Given the description of an element on the screen output the (x, y) to click on. 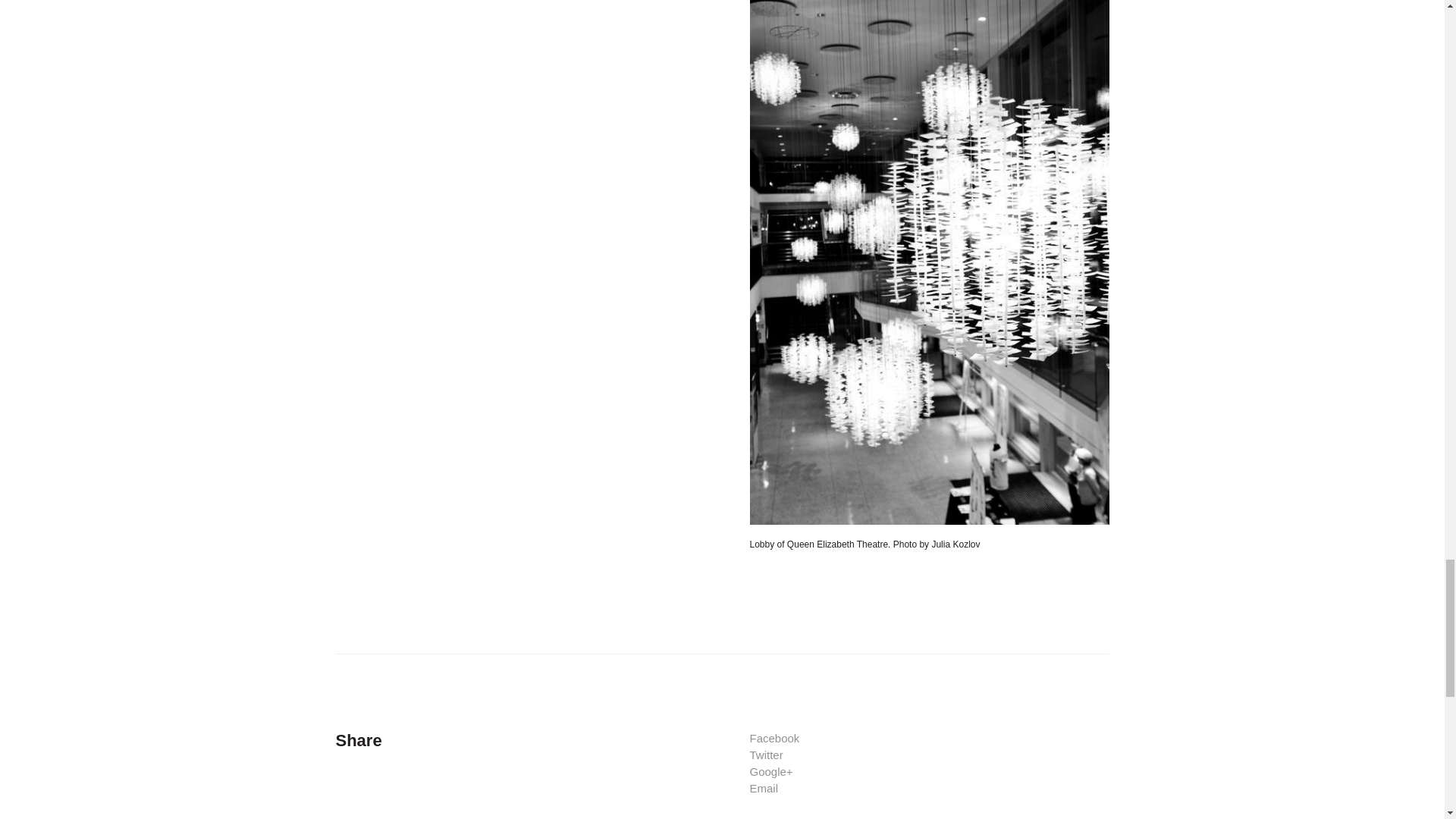
Email (763, 788)
Twitter (766, 754)
Facebook (774, 738)
